Given the description of an element on the screen output the (x, y) to click on. 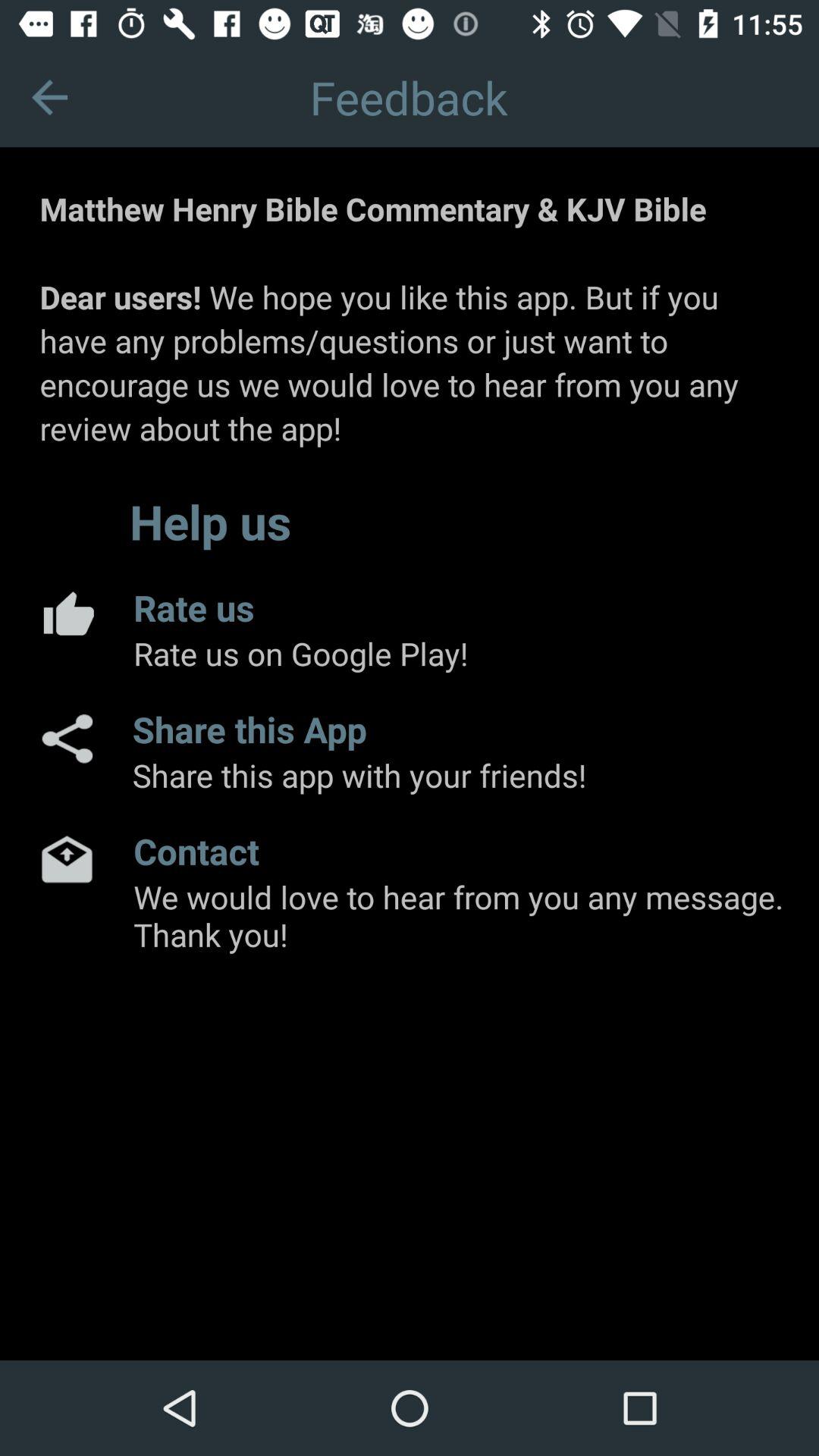
press the icon at the top left corner (49, 97)
